Given the description of an element on the screen output the (x, y) to click on. 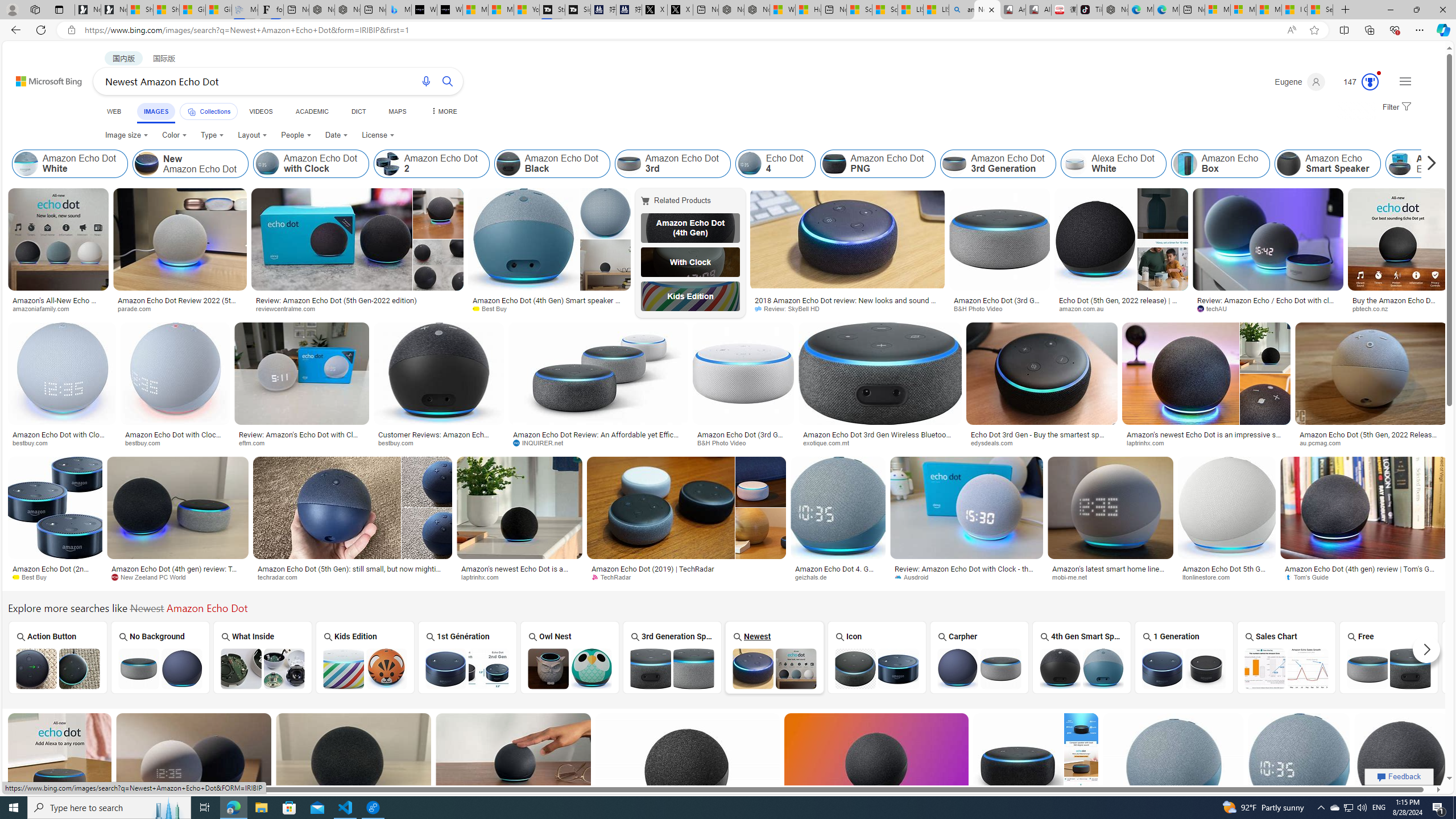
I Gained 20 Pounds of Muscle in 30 Days! | Watch (1293, 9)
Amazon Echo Dot Owl and Nest (569, 668)
Sales Chart (1286, 656)
Amazon Echo Dot with Clock (266, 163)
laptrinhx.com (483, 576)
amazon.com.au (1120, 308)
Carpher (978, 656)
